Given the description of an element on the screen output the (x, y) to click on. 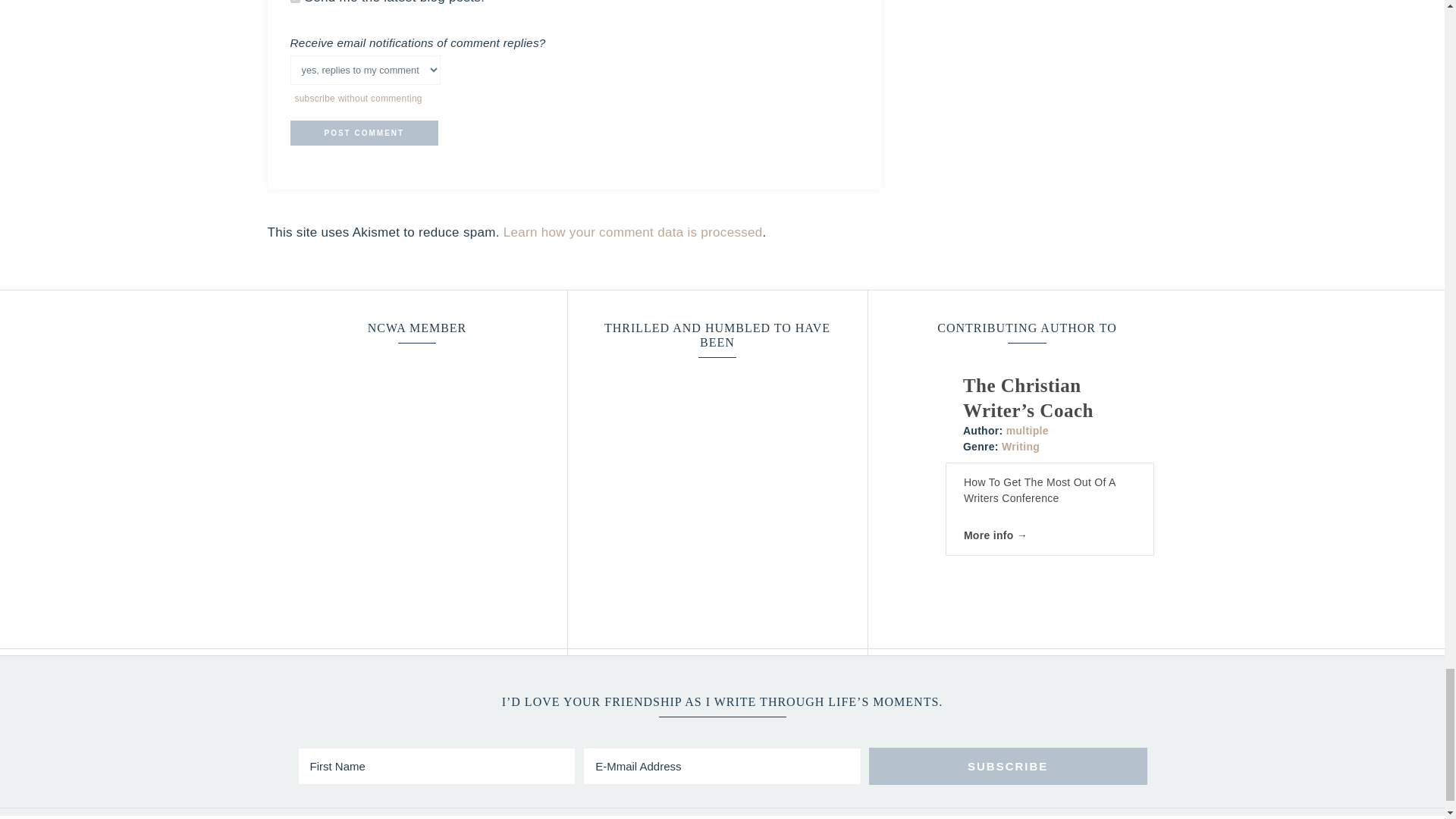
NCWA Member (416, 441)
Receive Notifications? (364, 70)
Subscribe (1008, 765)
Post Comment (363, 132)
1 (294, 1)
Learn how your comment data is processed (632, 232)
subscribe without commenting (358, 98)
Post Comment (363, 132)
